Given the description of an element on the screen output the (x, y) to click on. 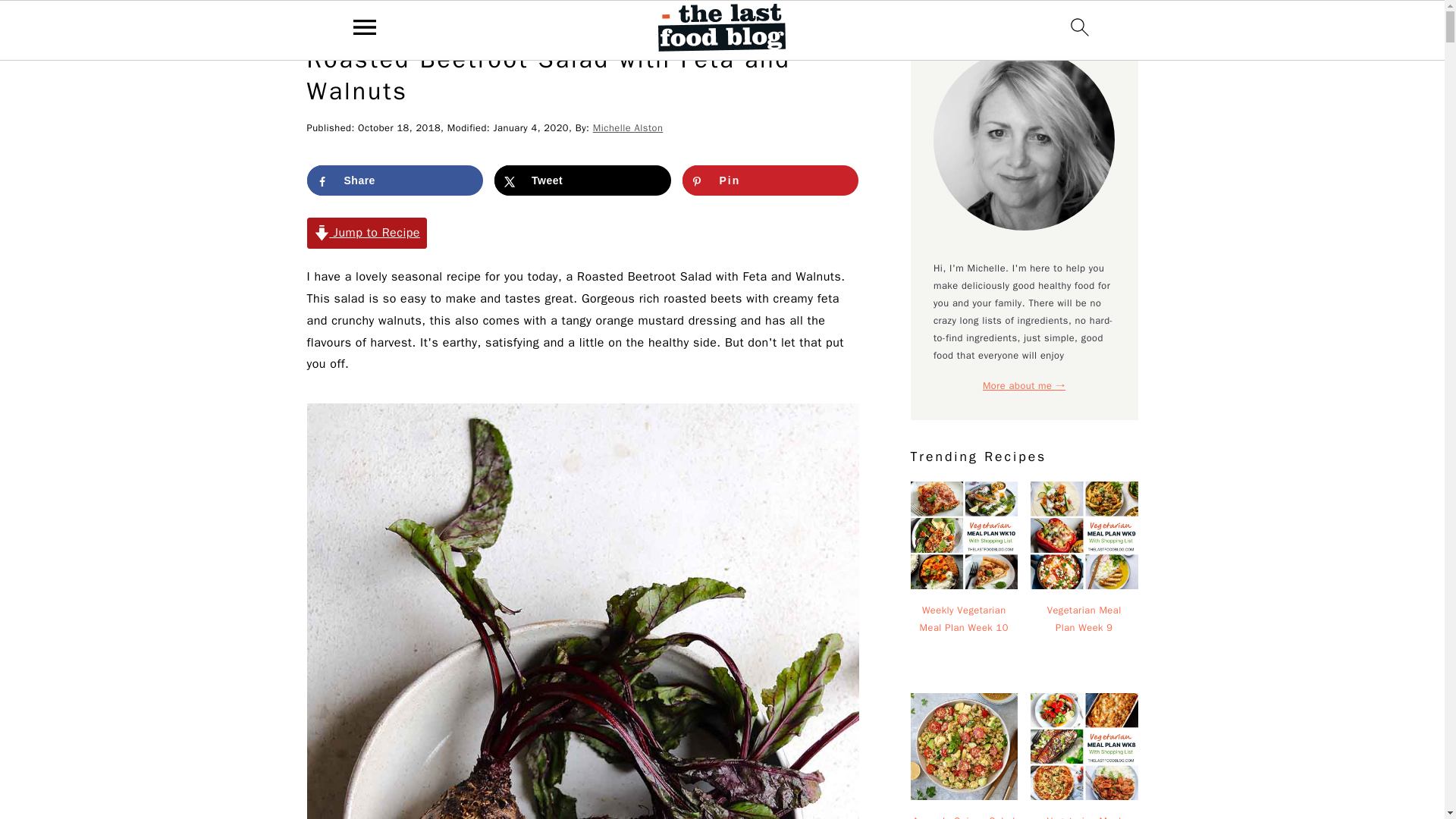
Save to Pinterest (770, 180)
menu icon (365, 26)
Share on X (583, 180)
search icon (1080, 26)
Share on Facebook (394, 180)
